Given the description of an element on the screen output the (x, y) to click on. 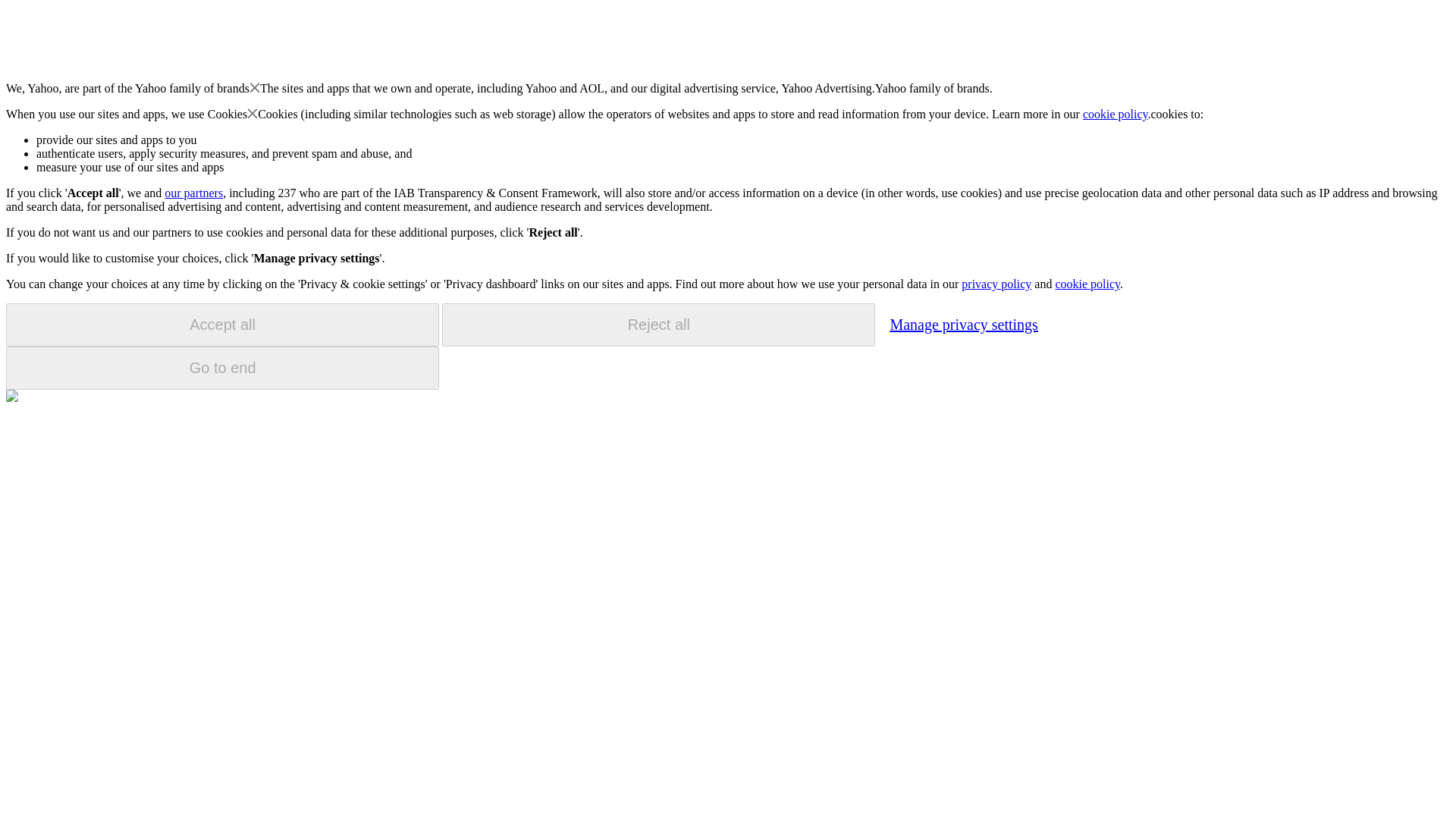
cookie policy (1115, 113)
Manage privacy settings (963, 323)
privacy policy (995, 283)
cookie policy (1086, 283)
Reject all (658, 324)
Accept all (222, 324)
Go to end (222, 367)
our partners (193, 192)
